Given the description of an element on the screen output the (x, y) to click on. 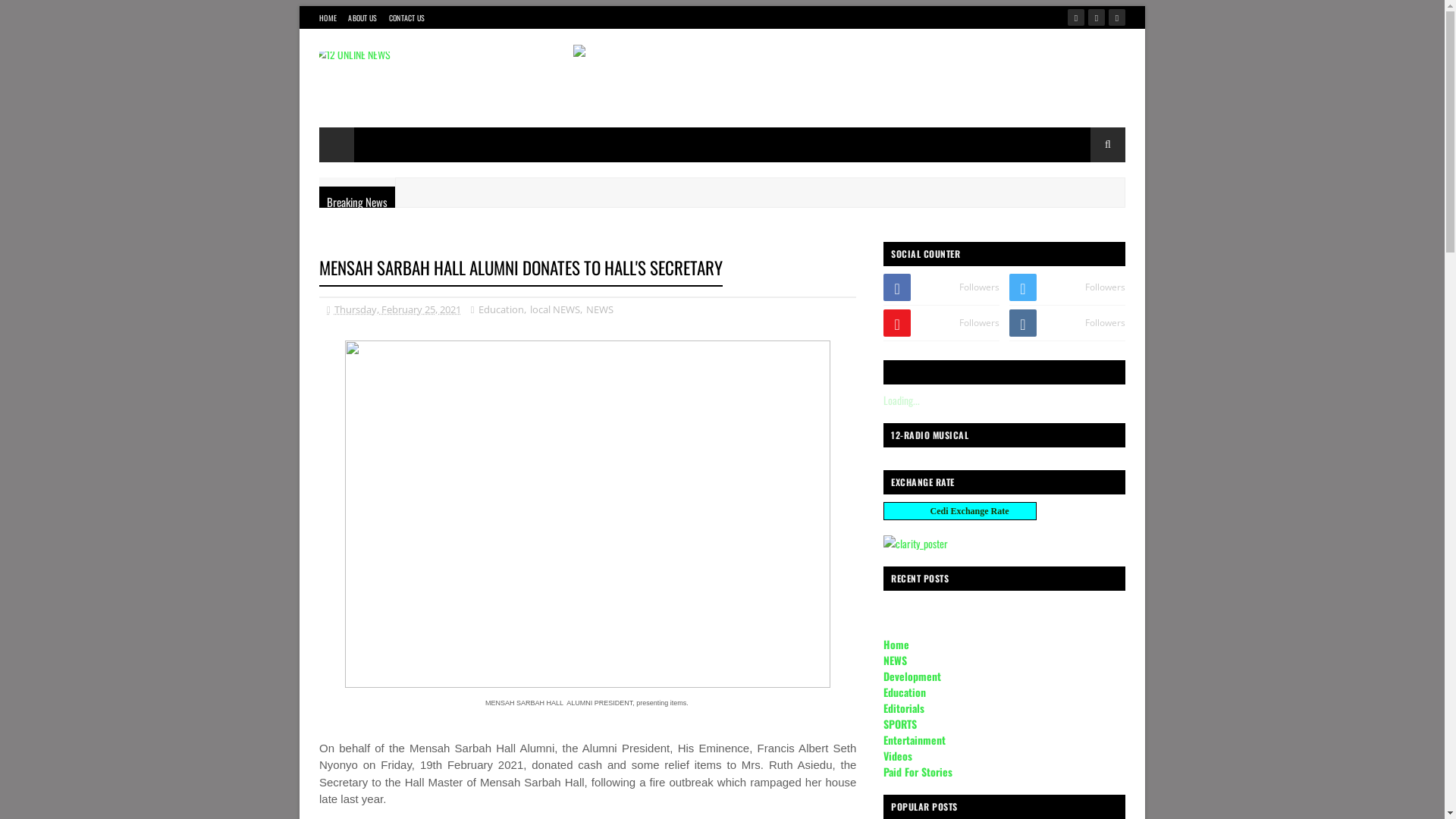
facebook Element type: hover (1075, 17)
Editorials Element type: text (903, 707)
CONTACT US Element type: text (407, 17)
ABOUT US Element type: text (362, 17)
instagram Element type: hover (1116, 17)
twitter Element type: hover (1096, 17)
Loading... Element type: text (901, 399)
Thursday, February 25, 2021 Element type: text (393, 309)
Education Element type: text (904, 691)
SPORTS Element type: text (899, 723)
NEWS Element type: text (597, 309)
Entertainment Element type: text (914, 739)
Development Element type: text (912, 676)
Paid For Stories Element type: text (917, 771)
NEWS Element type: text (894, 660)
Education Element type: text (499, 309)
  Cedi Exchange Rate Element type: text (960, 510)
Videos Element type: text (897, 755)
Home Element type: text (896, 644)
HOME Element type: text (327, 17)
local NEWS Element type: text (553, 309)
